Given the description of an element on the screen output the (x, y) to click on. 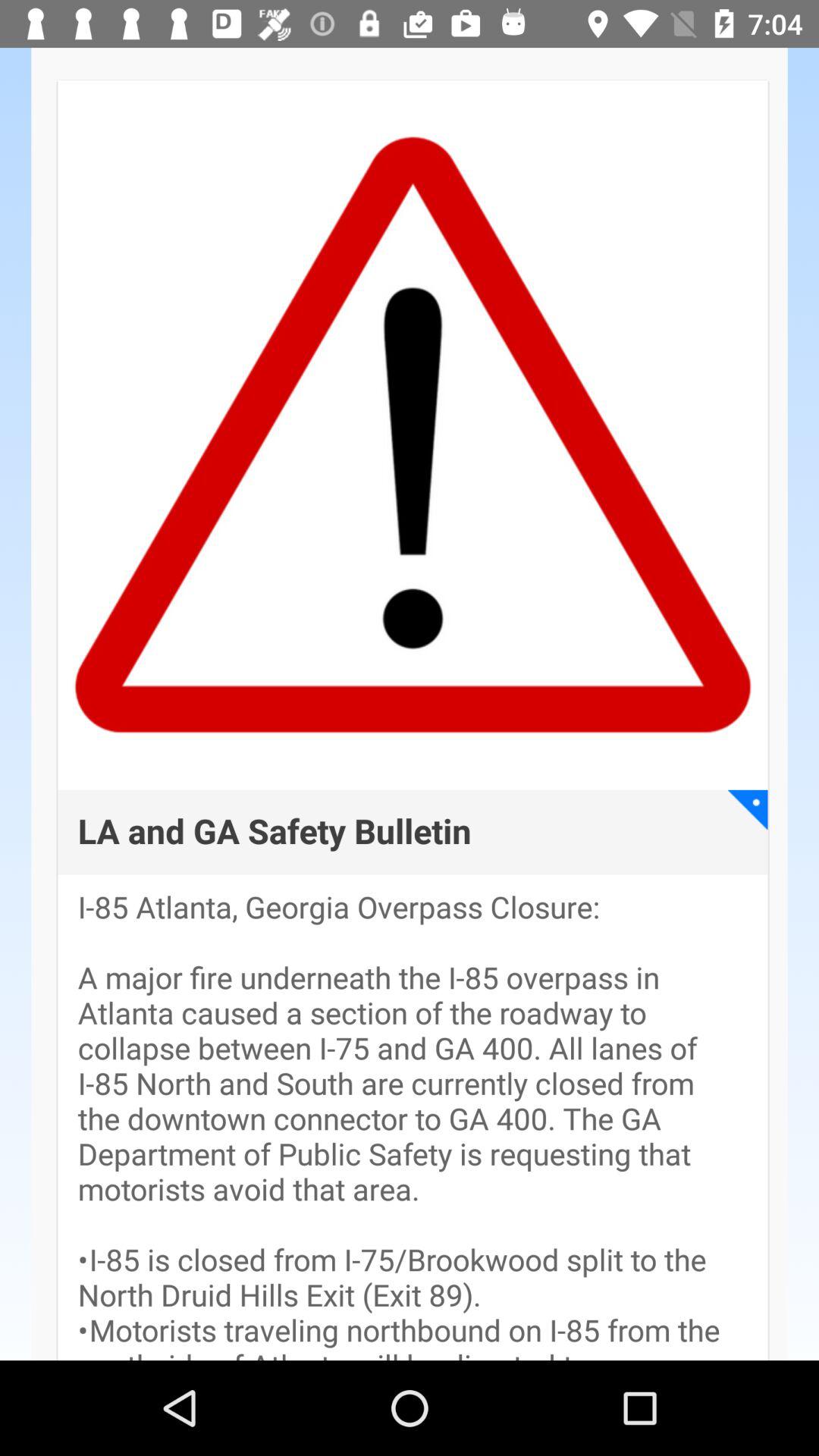
launch the icon at the center (274, 832)
